Given the description of an element on the screen output the (x, y) to click on. 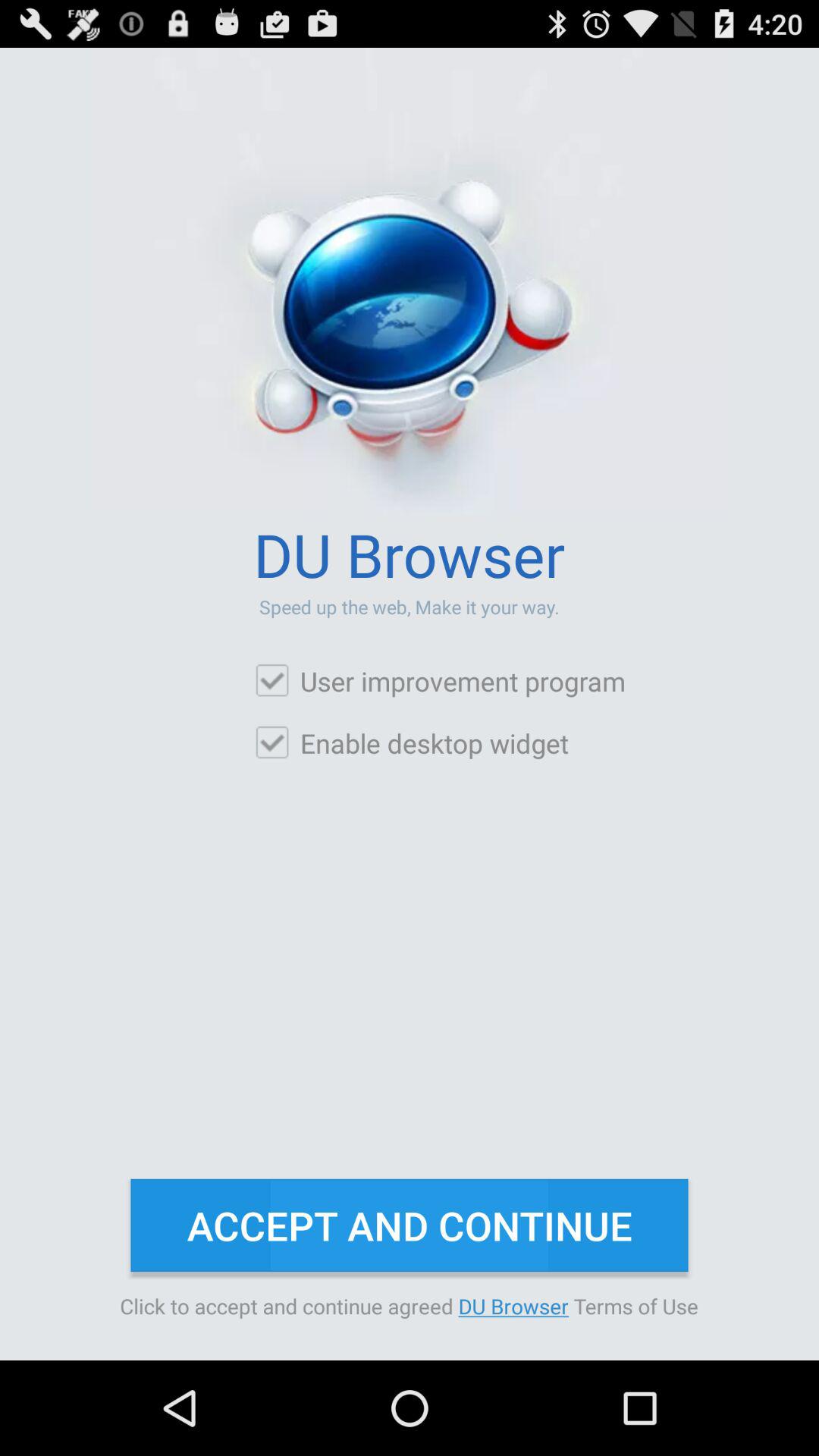
launch app below the speed up the app (439, 680)
